Given the description of an element on the screen output the (x, y) to click on. 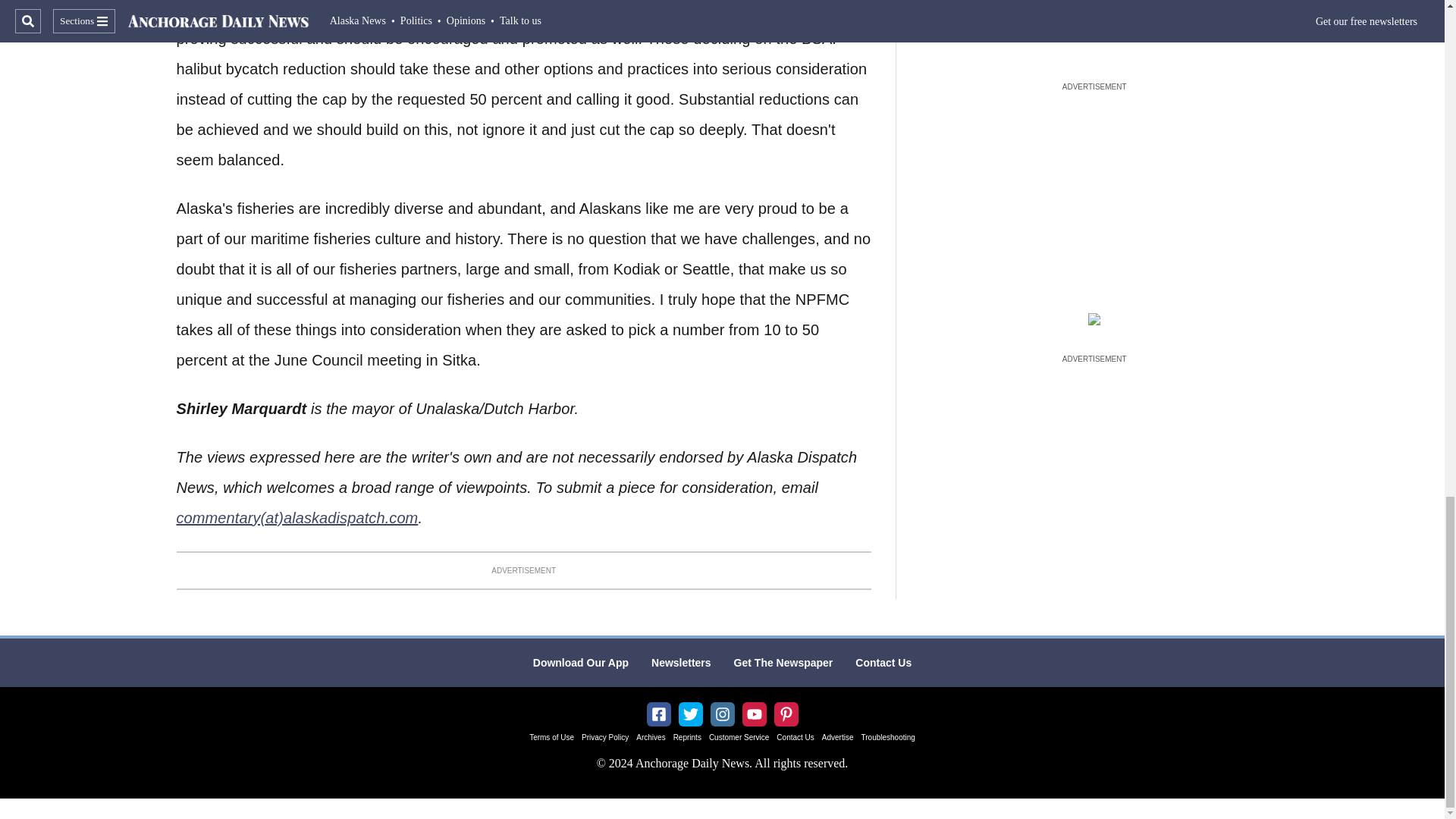
Facebook IconAnchorage Daily News Facebook Page (657, 713)
Twitter IconTwitter Account for Anchorage Daily News (689, 713)
PinterestAnchorage Daily News Pinterest Account (785, 713)
Instagram IconAnchorage Daily News instagram account (721, 713)
YouTube iconAnchorage Daily News YouTube channel (753, 713)
